Given the description of an element on the screen output the (x, y) to click on. 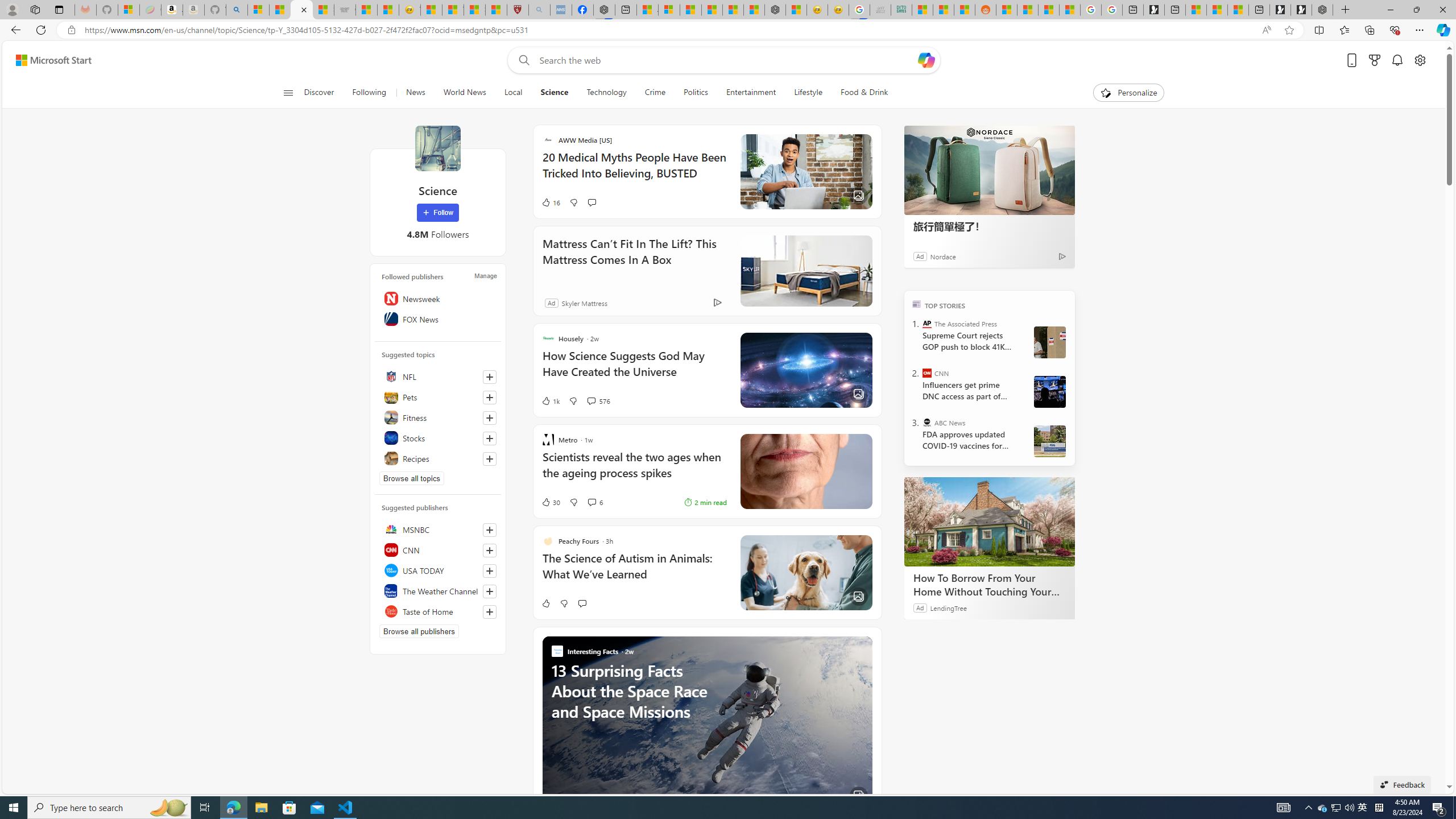
Newsweek (437, 298)
